Given the description of an element on the screen output the (x, y) to click on. 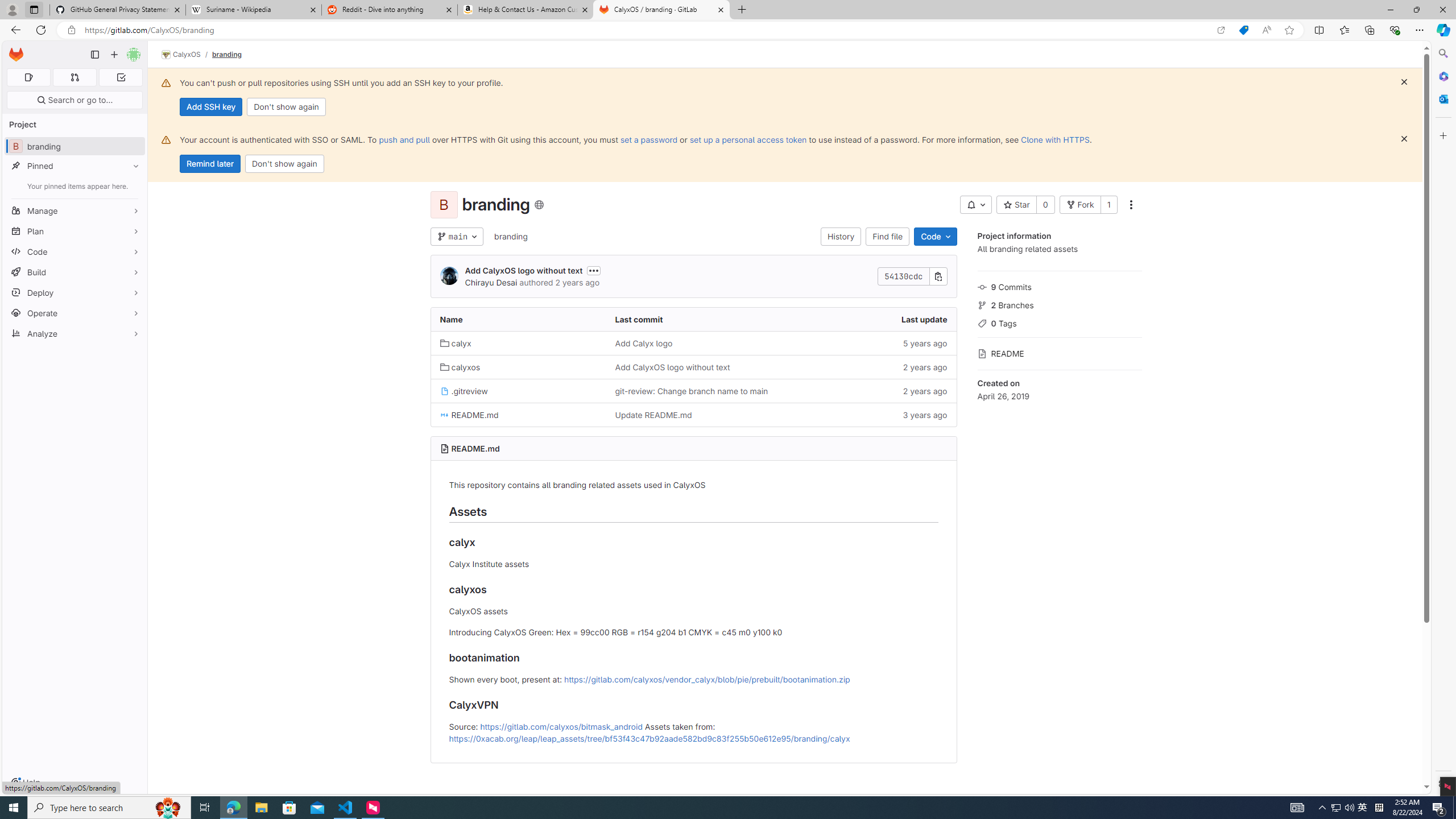
Plan (74, 230)
Find file (888, 236)
set up a personal access token (747, 139)
calyx (517, 342)
branding (510, 235)
Create new... (113, 54)
